Given the description of an element on the screen output the (x, y) to click on. 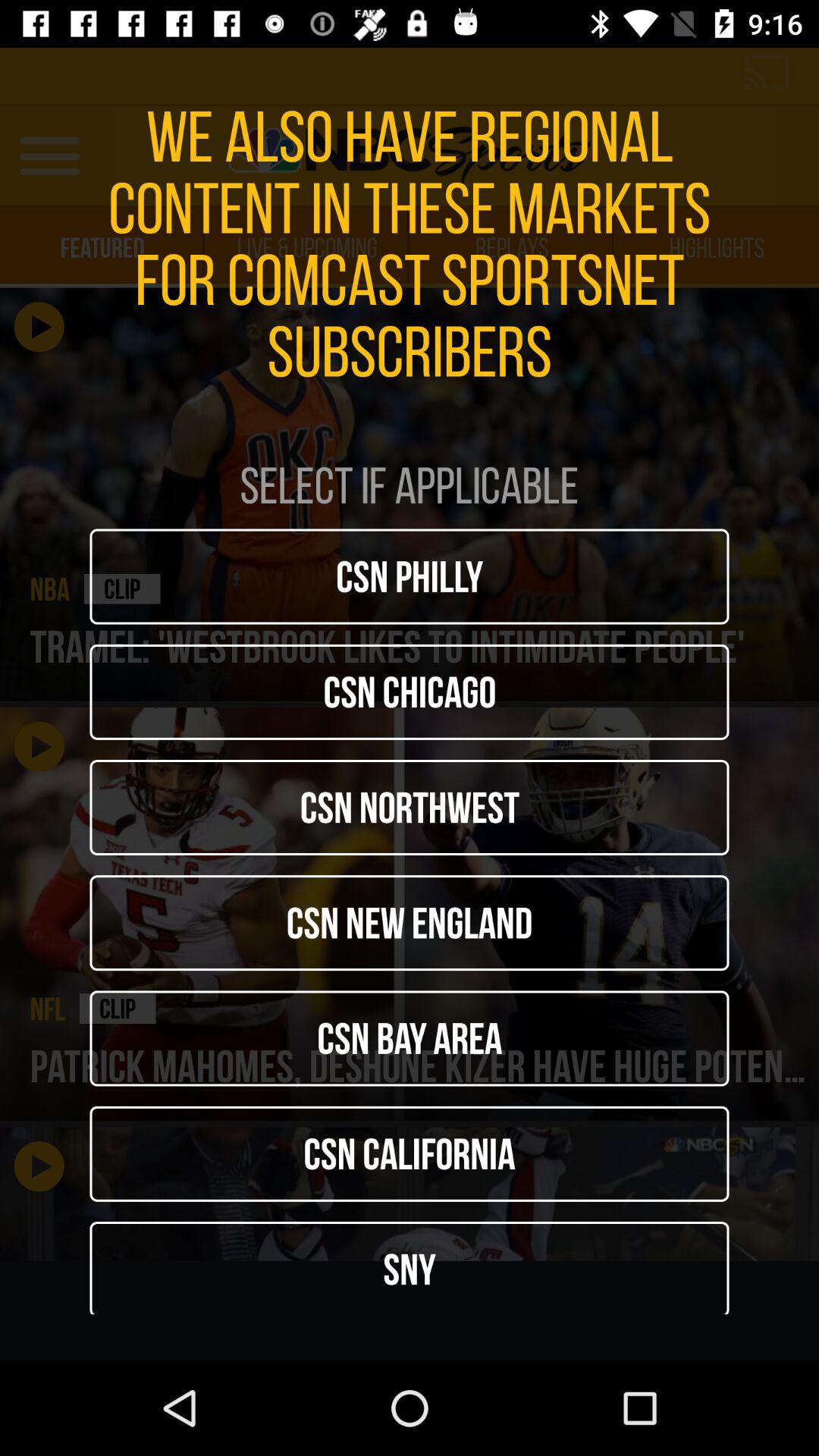
open csn bay area item (409, 1038)
